Given the description of an element on the screen output the (x, y) to click on. 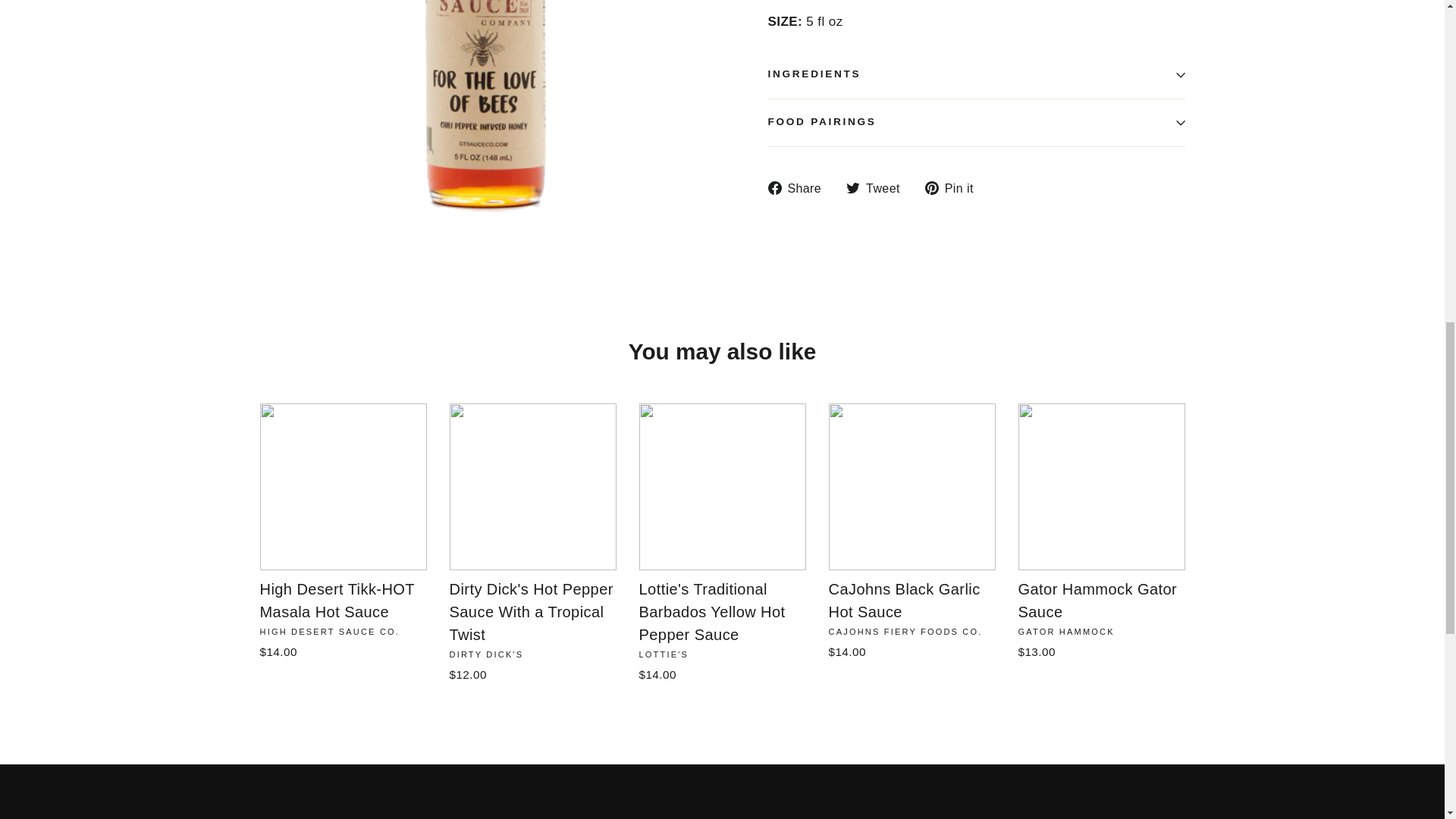
Share on Facebook (799, 188)
Pin on Pinterest (954, 188)
Tweet on Twitter (878, 188)
twitter (852, 187)
